Given the description of an element on the screen output the (x, y) to click on. 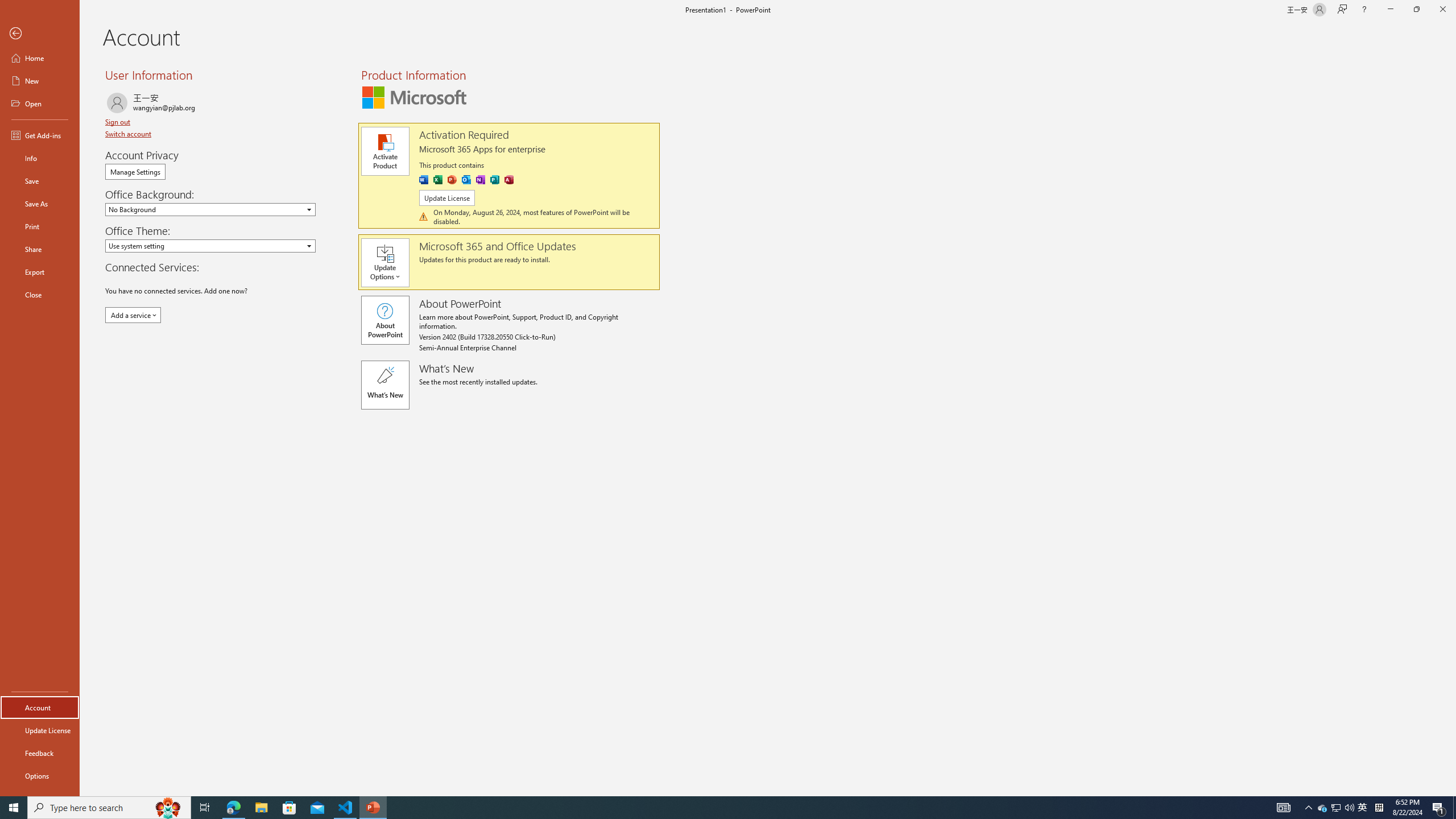
Print (40, 225)
Get Add-ins (40, 134)
About PowerPoint (385, 319)
Options (40, 775)
Add a service (132, 314)
Office Background (209, 209)
Save As (40, 203)
Restore Down (1416, 9)
PowerPoint (451, 179)
Word (423, 179)
Manage Settings (134, 171)
Activate Product (385, 151)
